Given the description of an element on the screen output the (x, y) to click on. 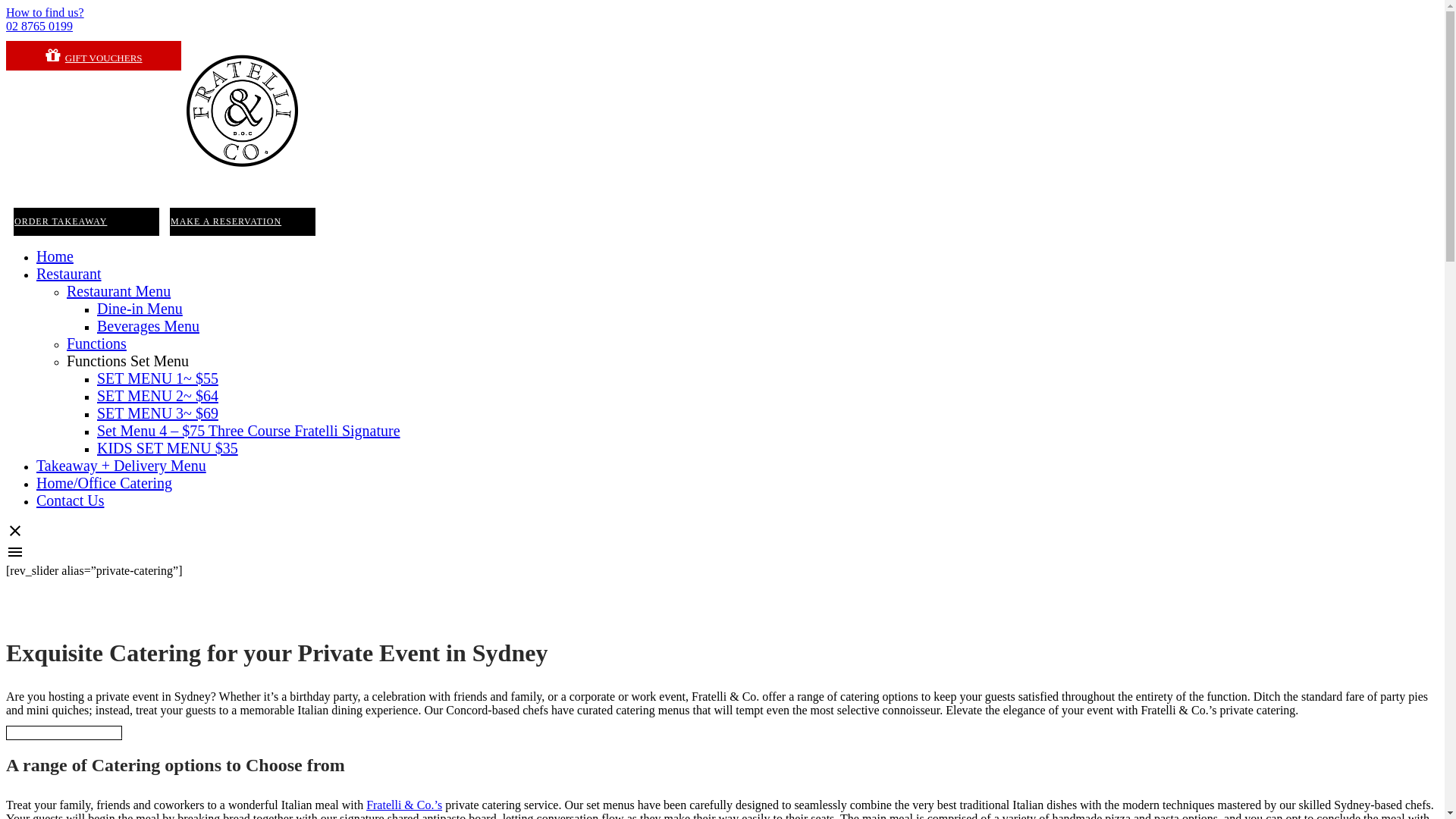
Takeaway + Delivery Menu Element type: text (121, 465)
KIDS SET MENU $35 Element type: text (167, 447)
ORDER TAKEAWAY Element type: text (86, 221)
How to find us? Element type: text (45, 12)
MAKE A RESERVATION Element type: text (242, 221)
ORDER CATERING Element type: text (64, 732)
Restaurant Menu Element type: text (118, 290)
Home Element type: text (54, 255)
Beverages Menu Element type: text (148, 325)
SET MENU 3~ $69 Element type: text (157, 412)
Home/Office Catering Element type: text (104, 482)
SET MENU 2~ $64 Element type: text (157, 395)
02 8765 0199 Element type: text (39, 25)
Dine-in Menu Element type: text (139, 308)
SET MENU 1~ $55 Element type: text (157, 378)
Functions Set Menu Element type: text (127, 360)
GIFT VOUCHERS Element type: text (93, 55)
Functions Element type: text (96, 343)
Restaurant Element type: text (68, 273)
Contact Us Element type: text (69, 500)
